Given the description of an element on the screen output the (x, y) to click on. 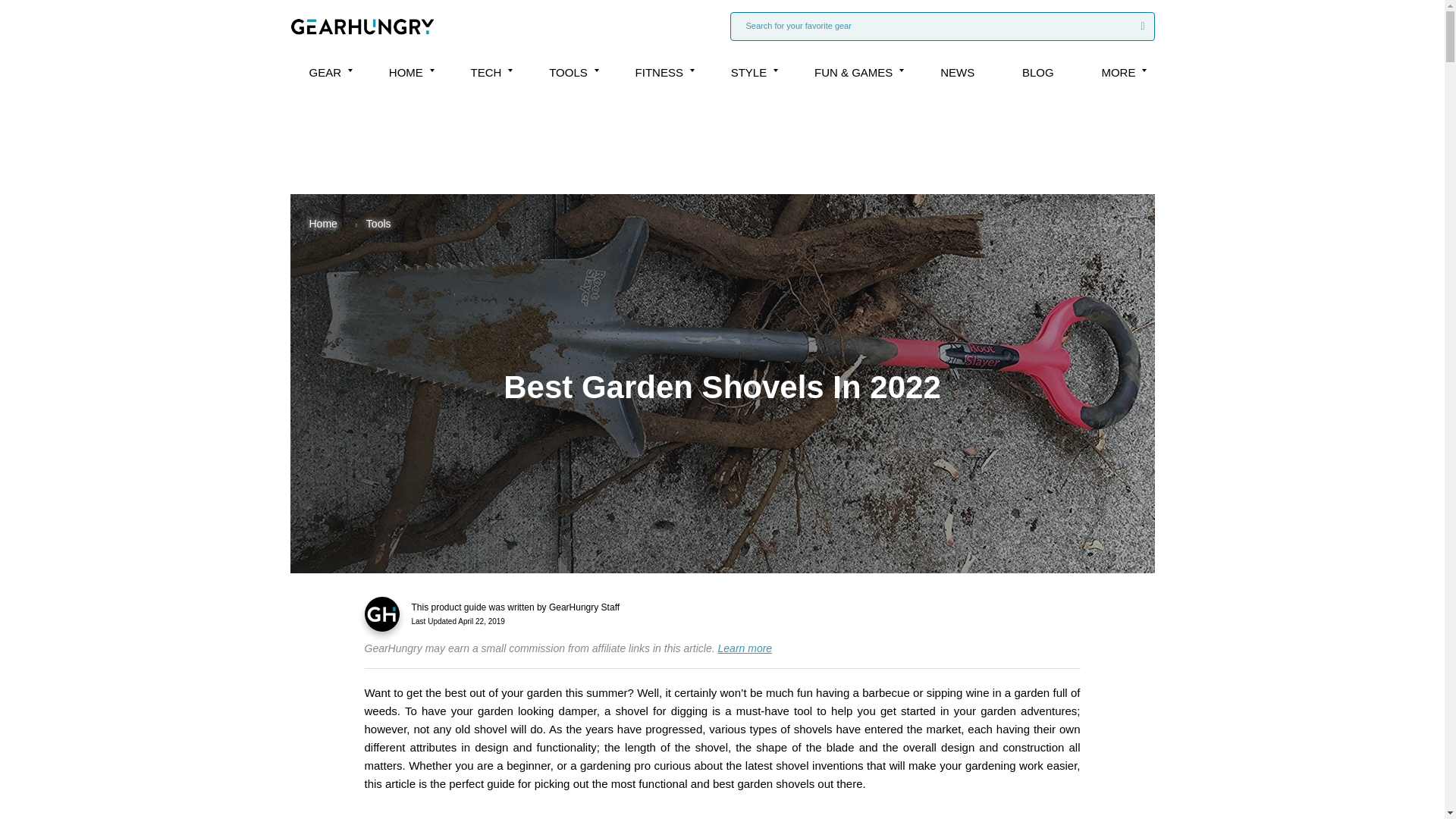
HOME (405, 72)
TOOLS (568, 72)
FITNESS (658, 72)
TECH (486, 72)
GEAR (324, 72)
